Given the description of an element on the screen output the (x, y) to click on. 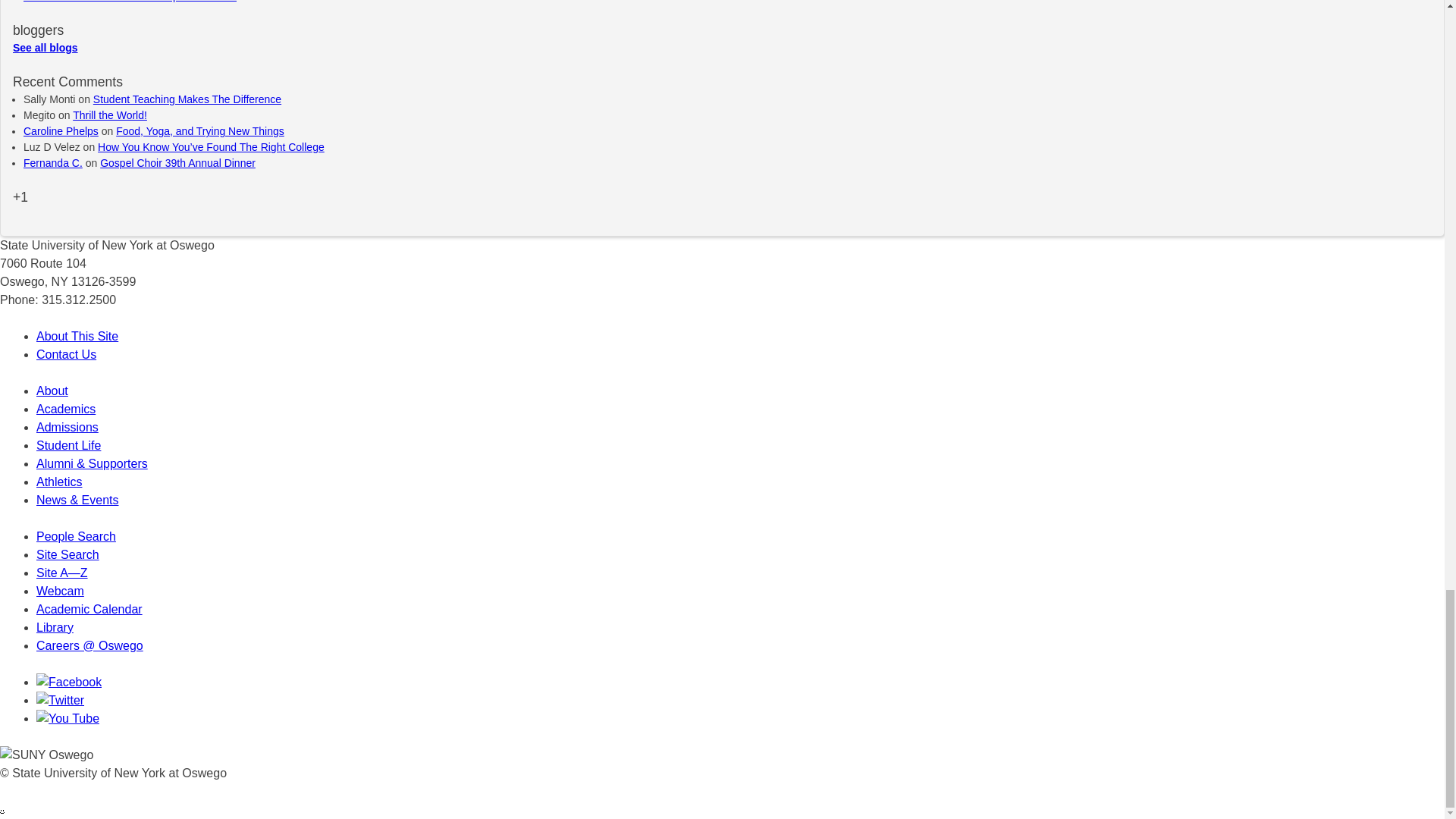
Thrill the World! (109, 114)
2020 ALANA Student Leadership Conference (129, 1)
Student Teaching Makes The Difference (187, 99)
See all blogs (45, 47)
Caroline Phelps (61, 131)
